Given the description of an element on the screen output the (x, y) to click on. 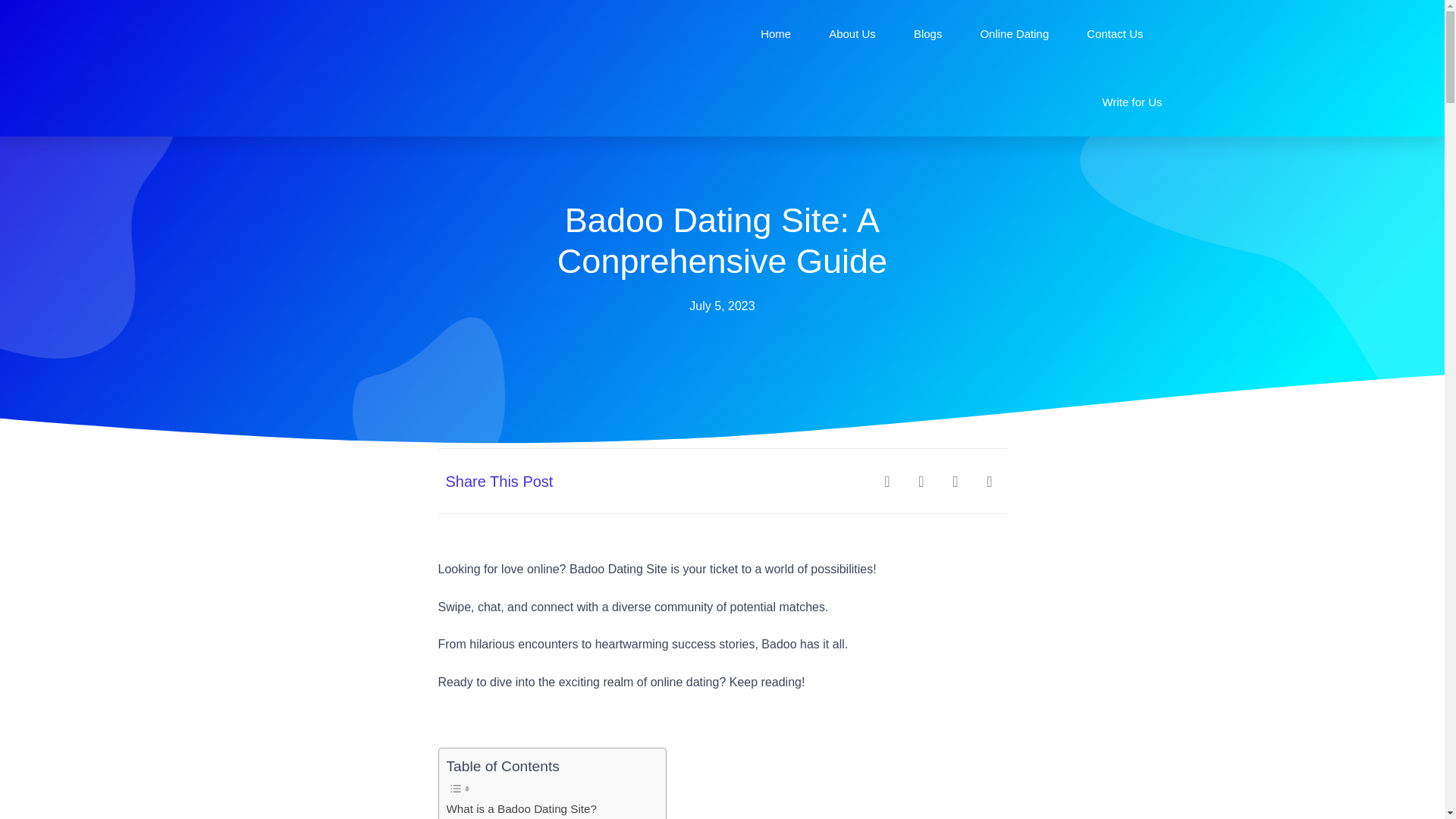
Online Dating (1013, 33)
July 5, 2023 (721, 306)
What is a Badoo Dating Site? (520, 809)
What is a Badoo Dating Site? (520, 809)
